Given the description of an element on the screen output the (x, y) to click on. 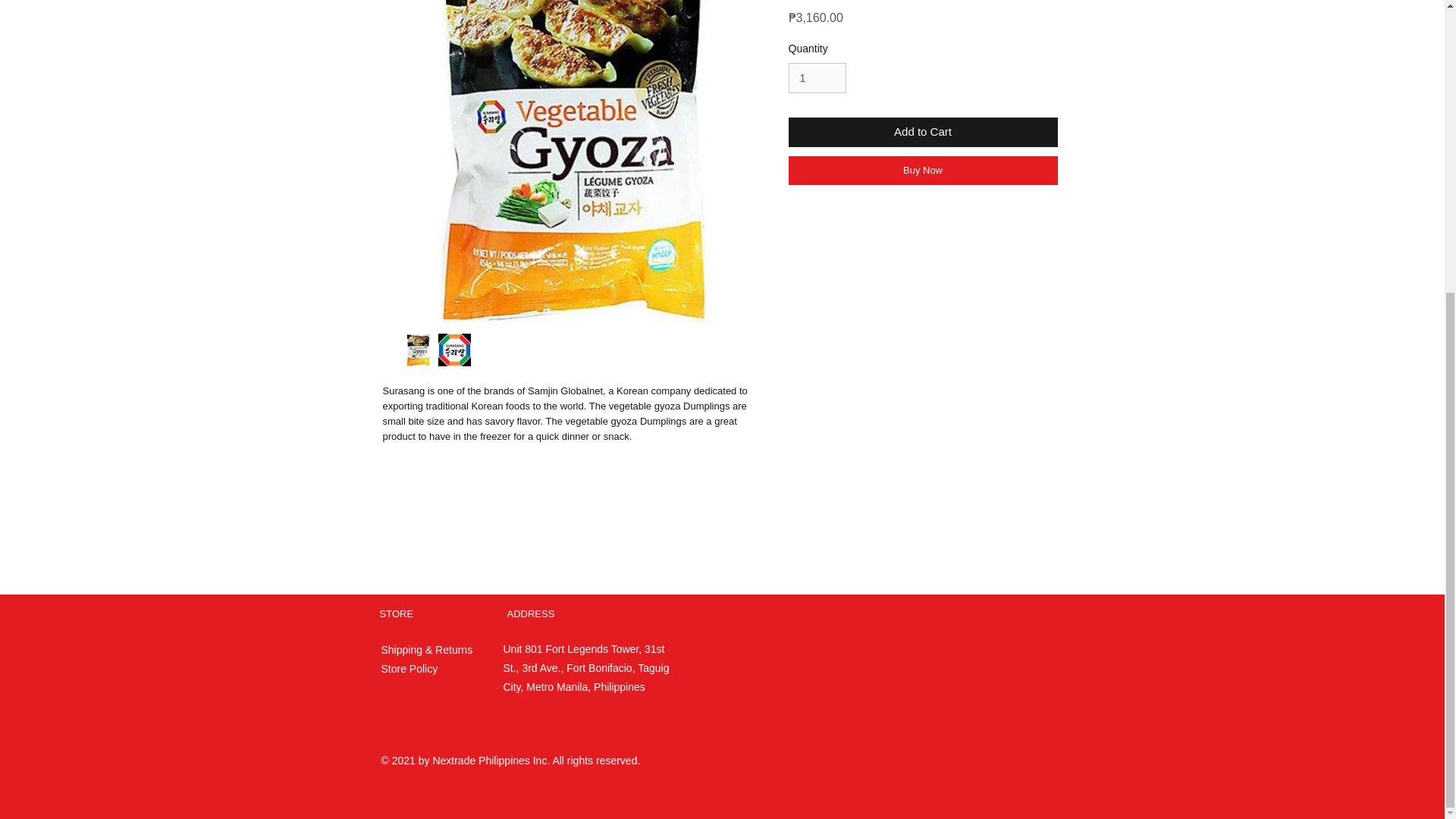
Add to Cart (923, 132)
Buy Now (923, 170)
Store Policy (409, 668)
1 (817, 78)
